Given the description of an element on the screen output the (x, y) to click on. 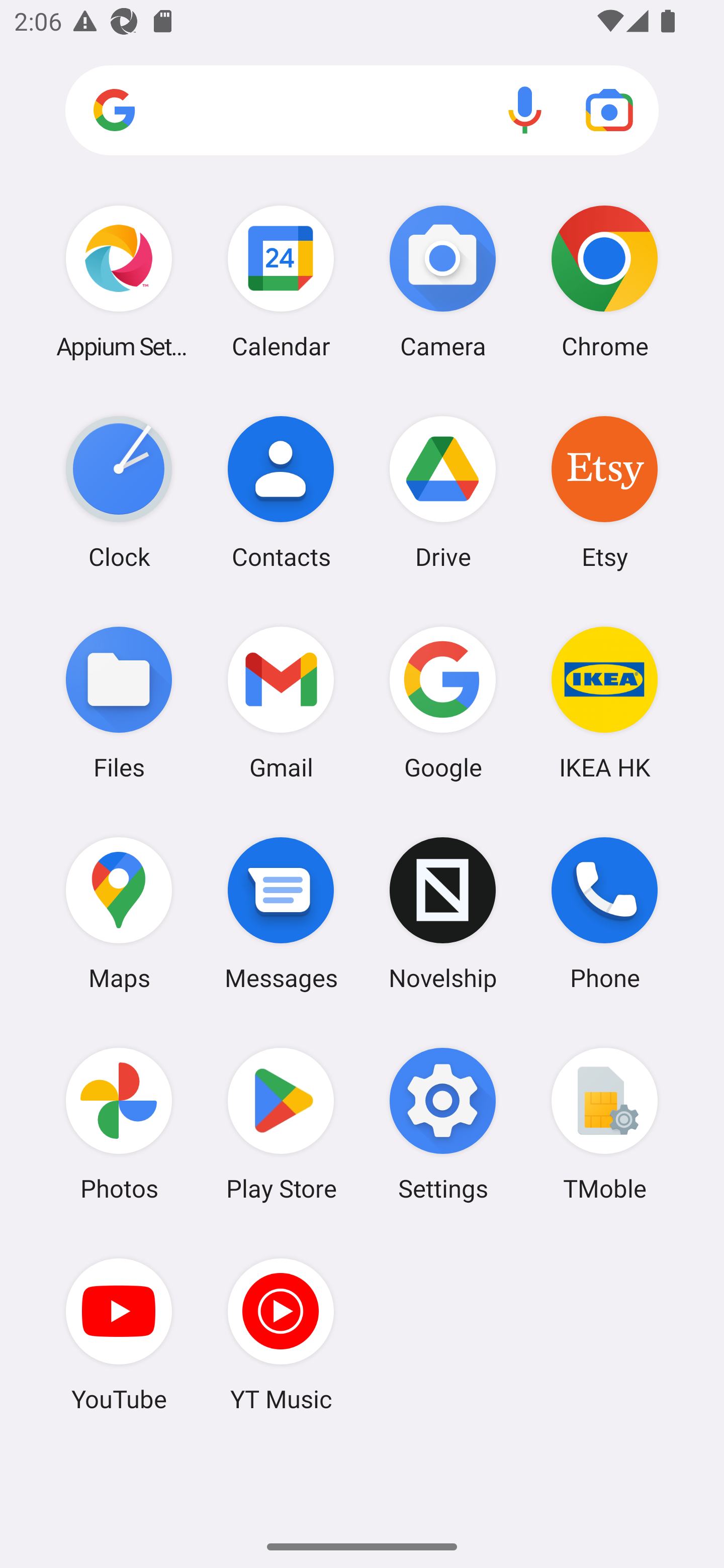
Search apps, web and more (361, 110)
Voice search (524, 109)
Google Lens (608, 109)
Appium Settings (118, 281)
Calendar (280, 281)
Camera (443, 281)
Chrome (604, 281)
Clock (118, 492)
Contacts (280, 492)
Drive (443, 492)
Etsy (604, 492)
Files (118, 702)
Gmail (280, 702)
Google (443, 702)
IKEA HK (604, 702)
Maps (118, 913)
Messages (280, 913)
Novelship (443, 913)
Phone (604, 913)
Photos (118, 1124)
Play Store (280, 1124)
Settings (443, 1124)
TMoble (604, 1124)
YouTube (118, 1334)
YT Music (280, 1334)
